Given the description of an element on the screen output the (x, y) to click on. 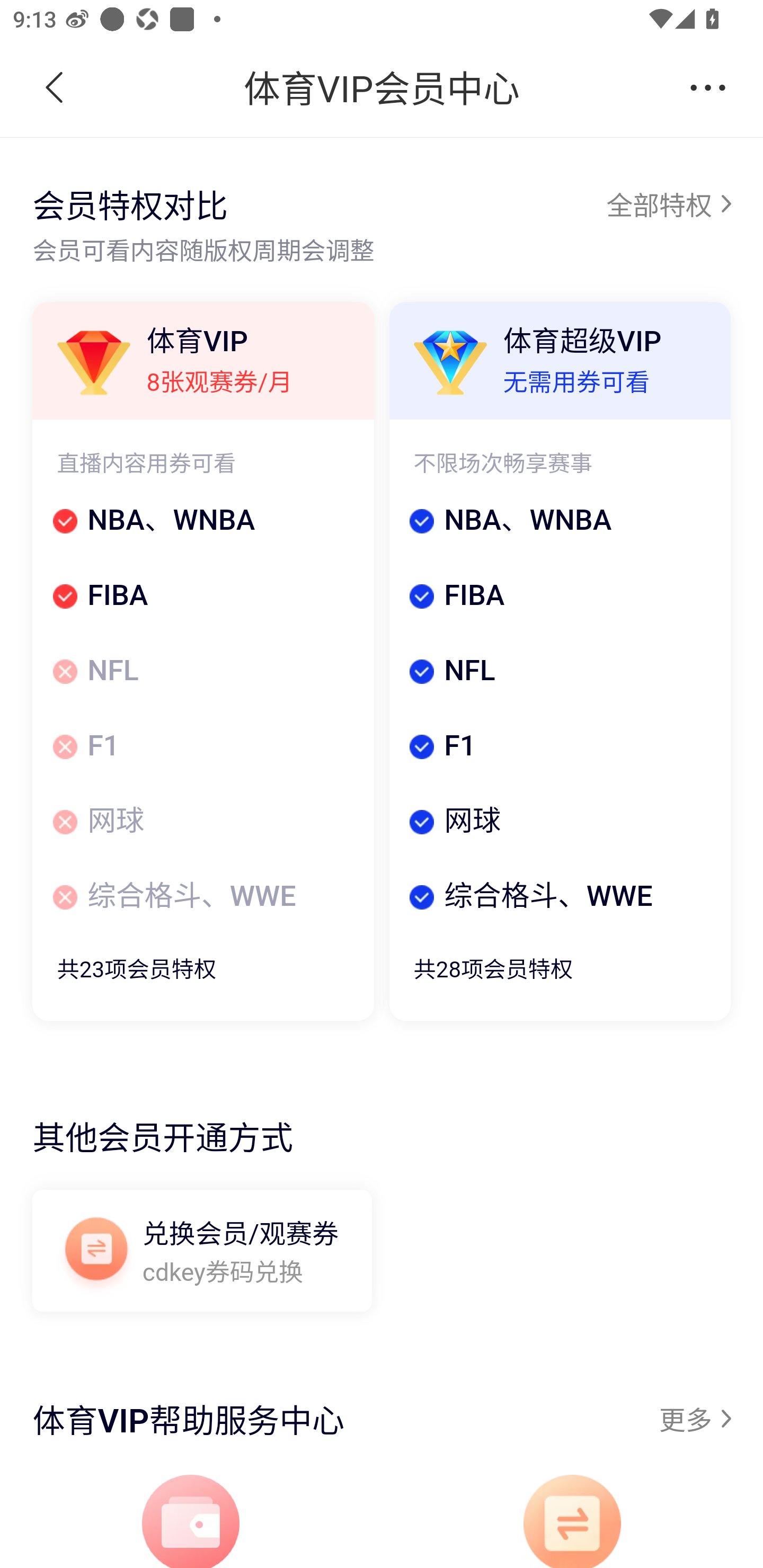
 返回 (54, 87)
 更多 (707, 87)
体育VIP会员中心 (381, 88)
全部特权 (667, 203)
NBA、WNBA (202, 521)
NBA、WNBA (558, 521)
FIBA (202, 597)
FIBA (558, 597)
NFL (202, 672)
NFL (558, 672)
F1 (202, 746)
F1 (558, 746)
网球 (202, 822)
网球 (558, 822)
综合格斗、WWE (202, 896)
综合格斗、WWE (558, 896)
兑换会员/观赛券 兑换会员/观赛券 cdkey券码兑换 (202, 1251)
兑换会员/观赛券 (95, 1255)
更多 (693, 1419)
20220613_7p4mz3s2thuj6u0xipc678fwwuszf32u (190, 1520)
20220818_n1dnicyeh999zwak1cy5oe5ncv9k8a2i (572, 1520)
